Given the description of an element on the screen output the (x, y) to click on. 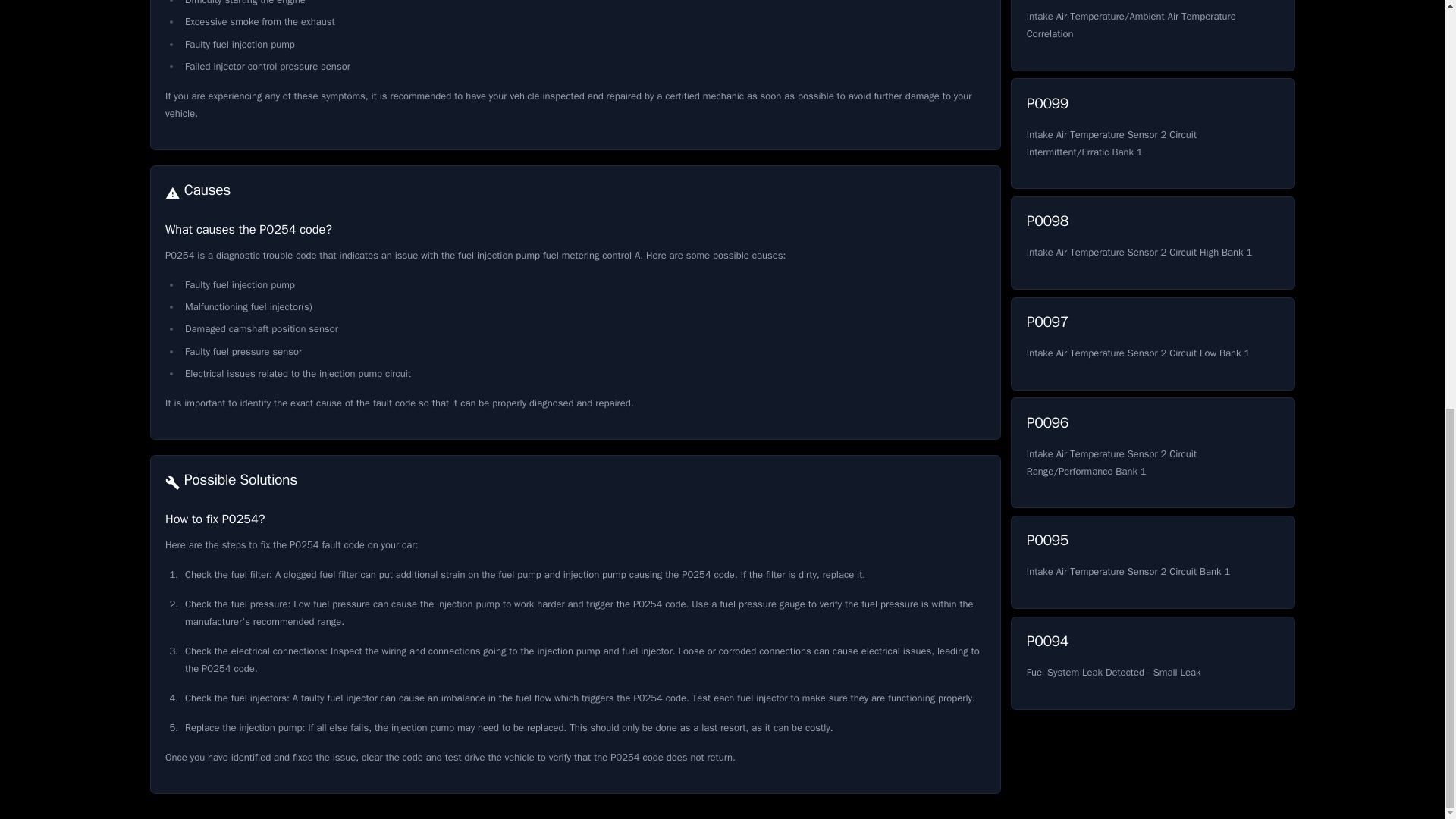
P0094 (1152, 343)
P0096 (1152, 663)
P0098 (1152, 452)
P0099 (1152, 562)
P0095 (1152, 242)
P0097 (1152, 242)
